Given the description of an element on the screen output the (x, y) to click on. 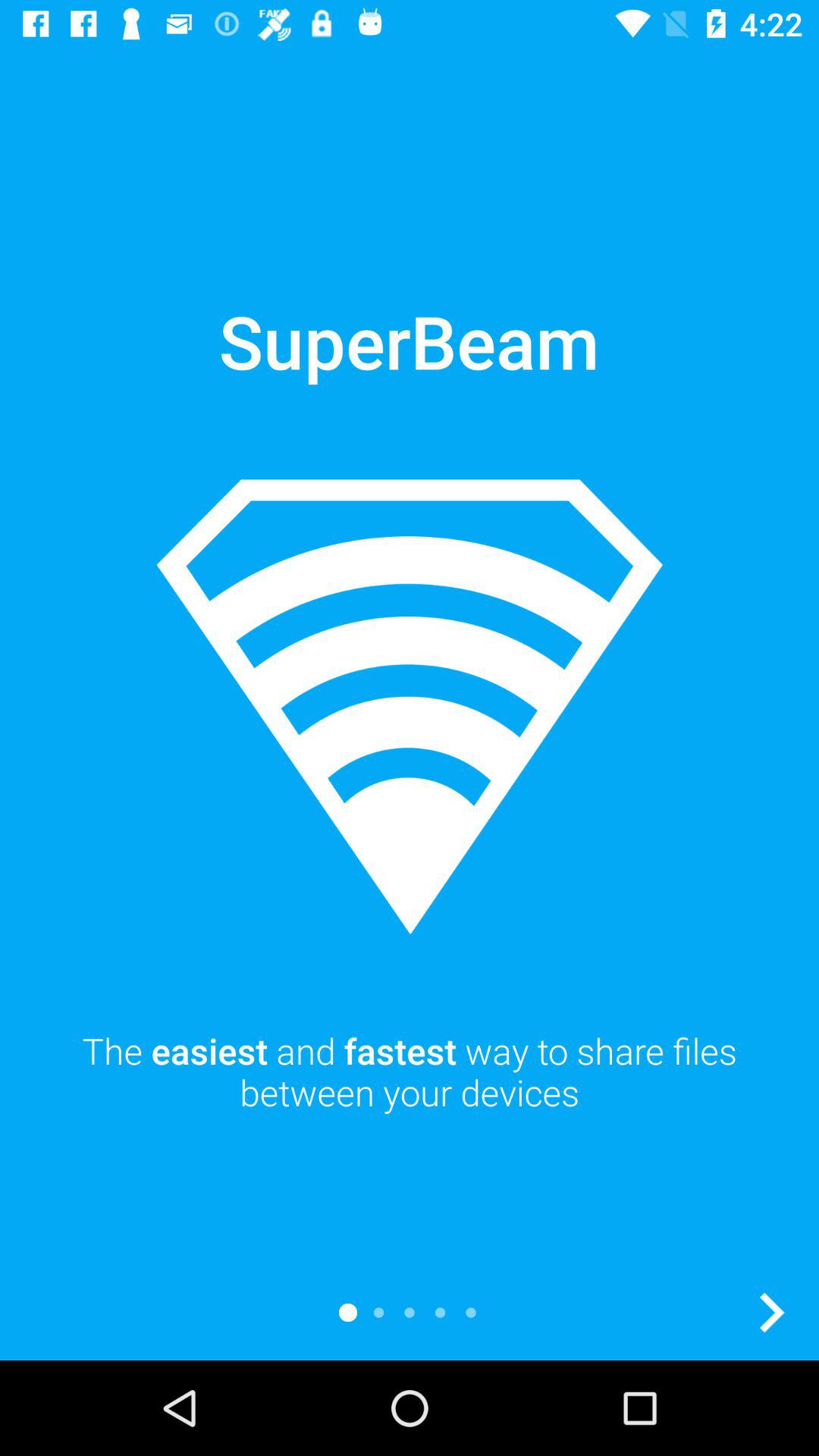
go to next (771, 1312)
